Given the description of an element on the screen output the (x, y) to click on. 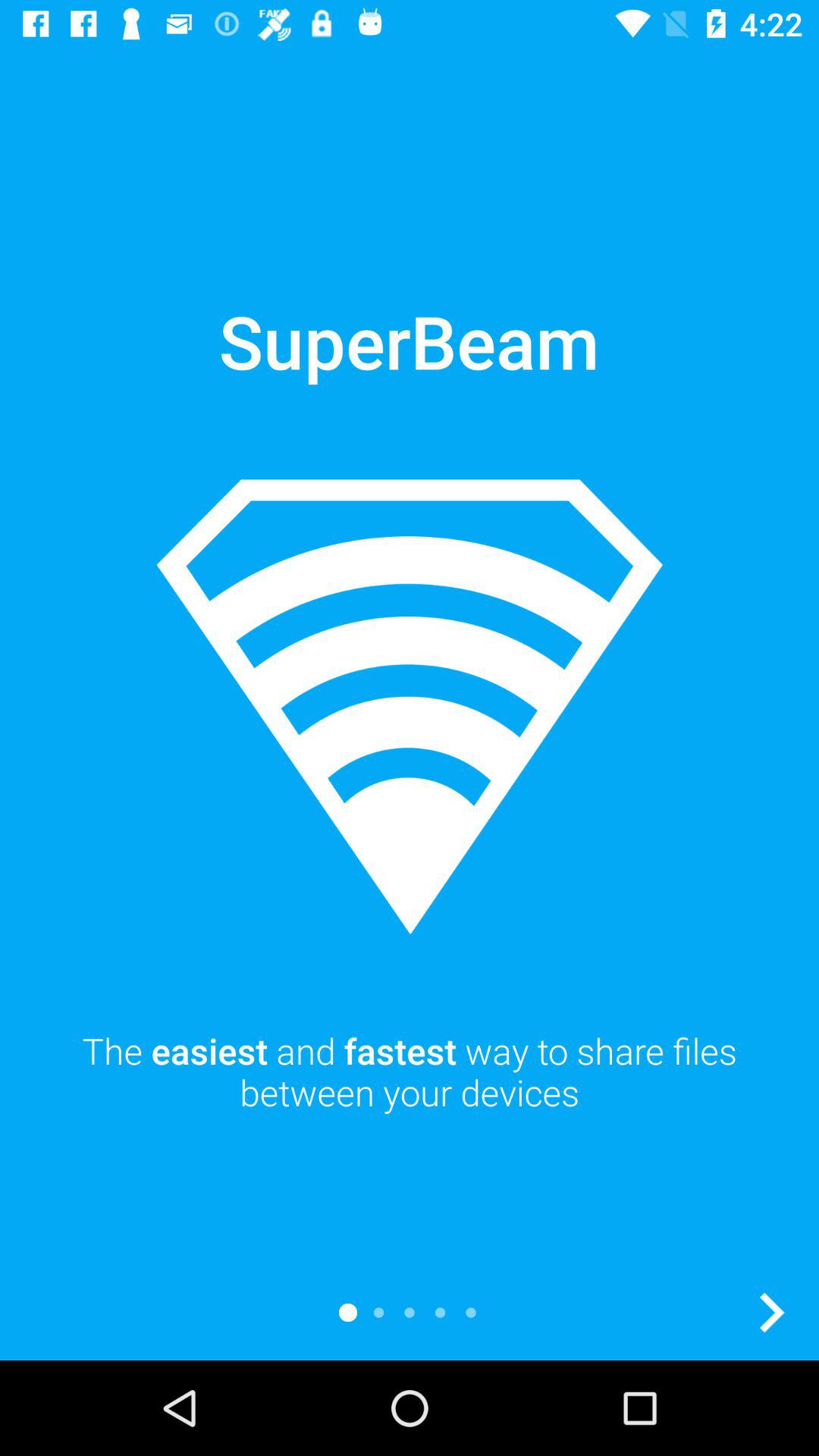
go to next (771, 1312)
